Given the description of an element on the screen output the (x, y) to click on. 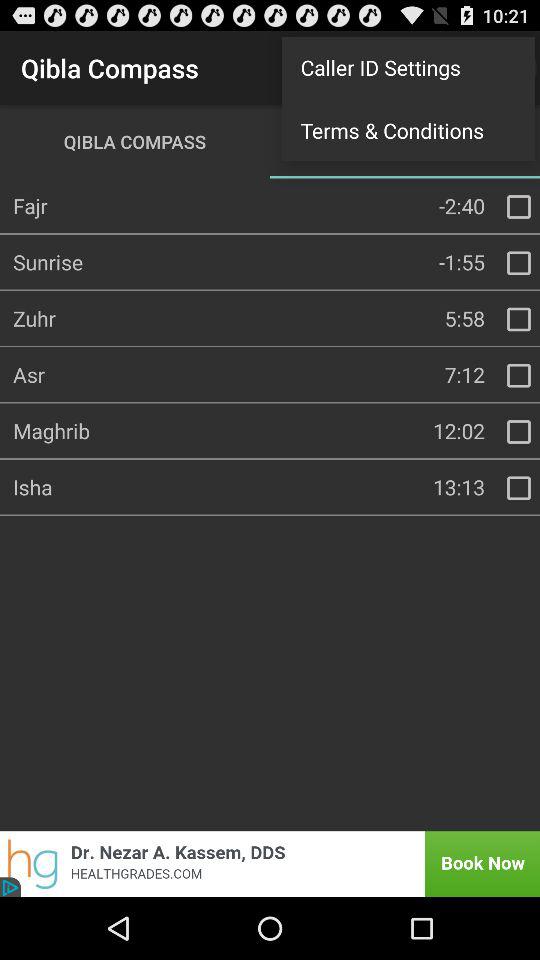
check mark box (519, 207)
